Given the description of an element on the screen output the (x, y) to click on. 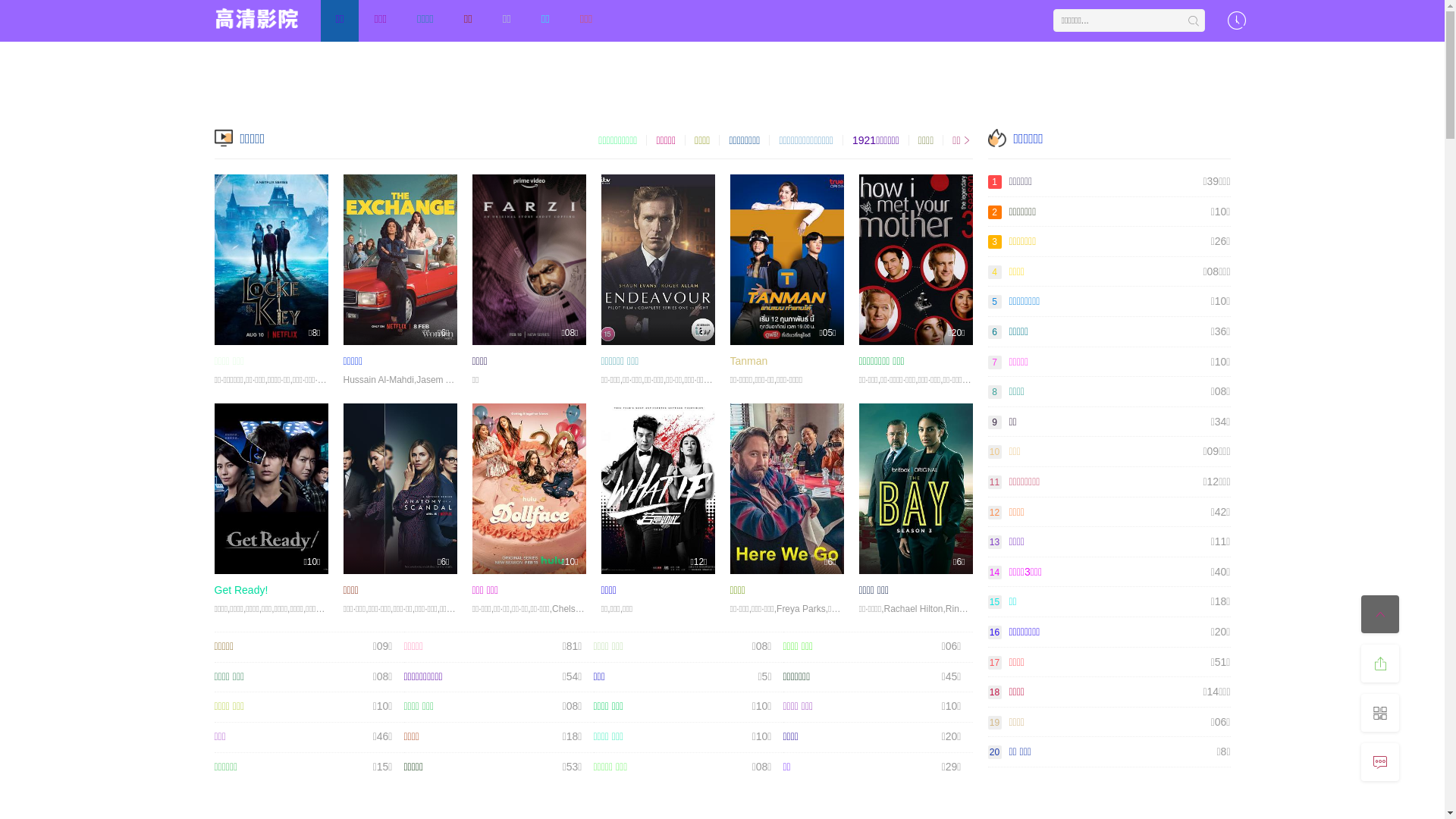
Get Ready! Element type: text (240, 589)
Tanman Element type: text (748, 360)
